Given the description of an element on the screen output the (x, y) to click on. 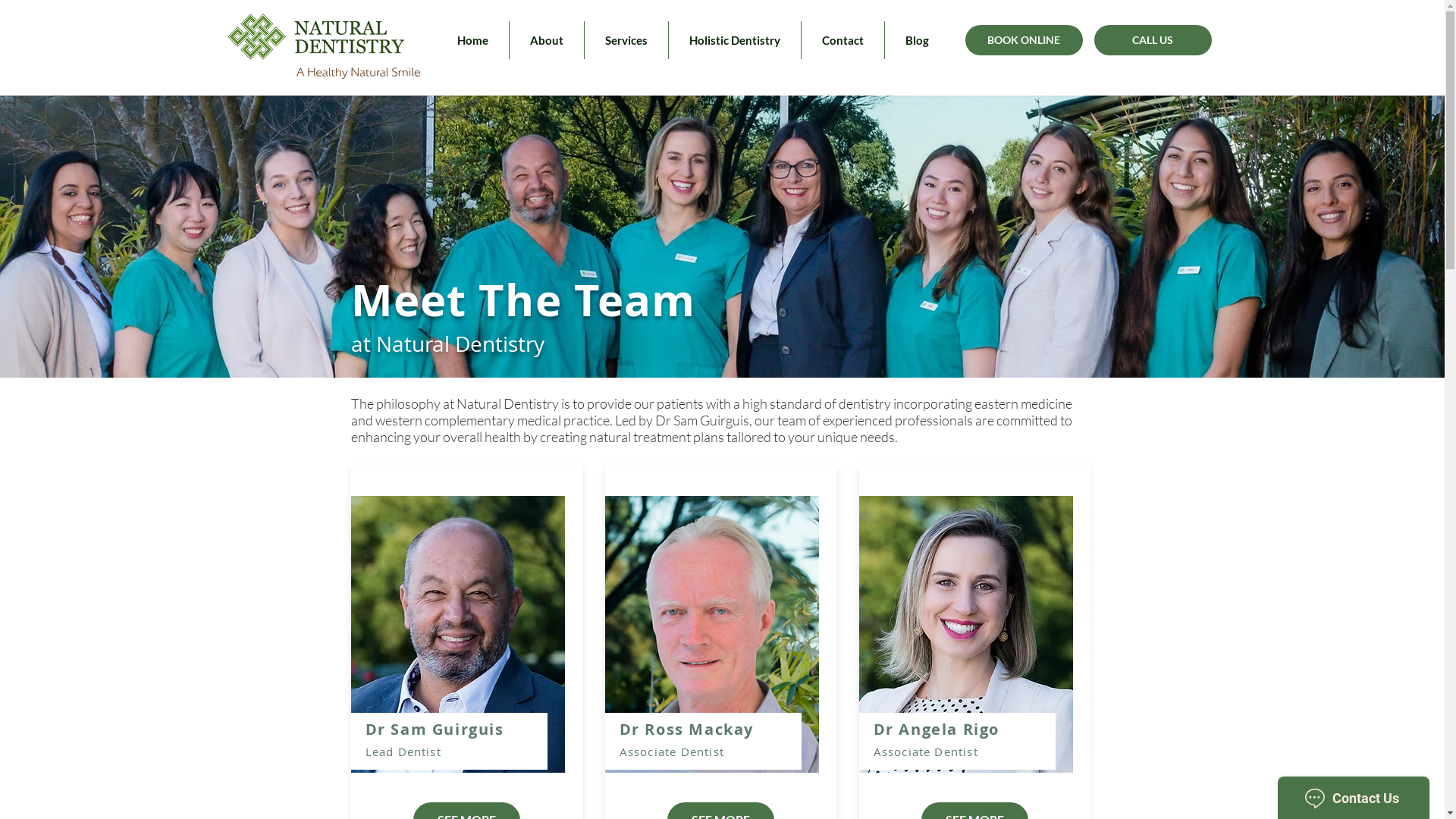
BOOK ONLINE Element type: text (1023, 40)
Home Element type: text (472, 40)
Blog Element type: text (916, 40)
CALL US Element type: text (1152, 40)
Services Element type: text (625, 40)
Contact Element type: text (841, 40)
